Given the description of an element on the screen output the (x, y) to click on. 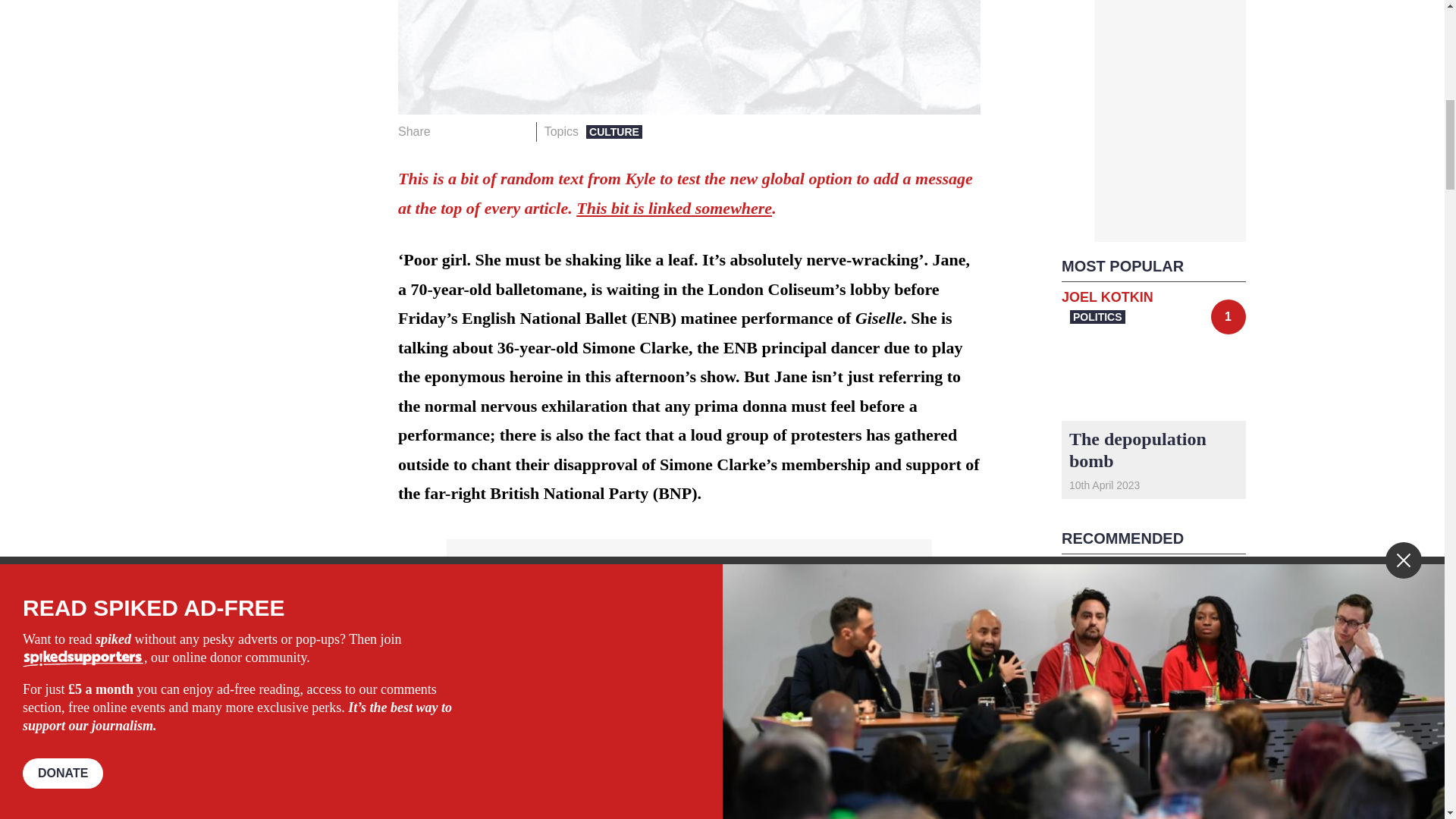
Share on Whatsapp (494, 131)
Share on Facebook (448, 131)
Share on Email (518, 131)
Share on Twitter (471, 131)
